Given the description of an element on the screen output the (x, y) to click on. 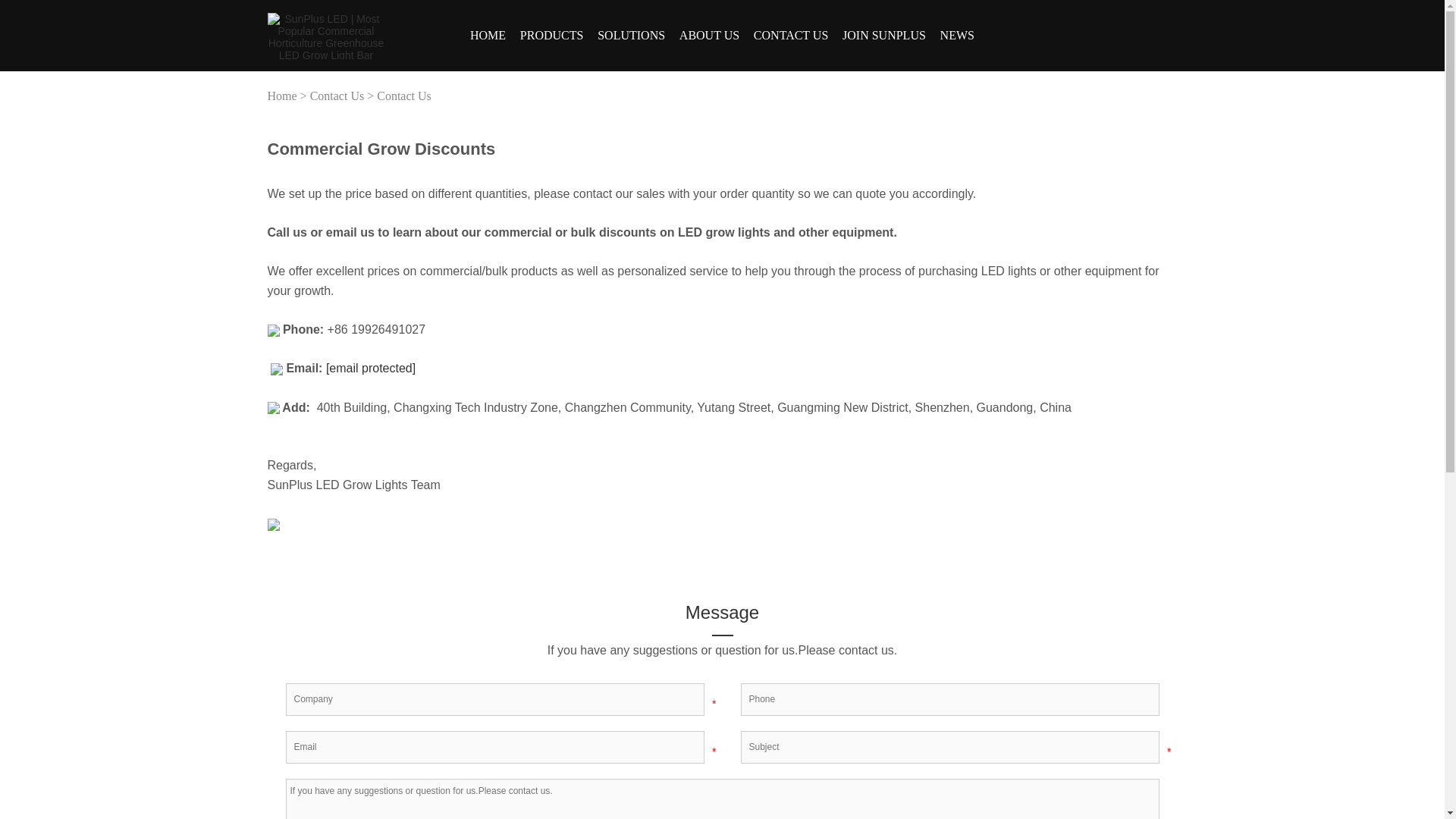
JOIN SUNPLUS (884, 36)
SOLUTIONS (630, 36)
Contact Us (791, 36)
